Given the description of an element on the screen output the (x, y) to click on. 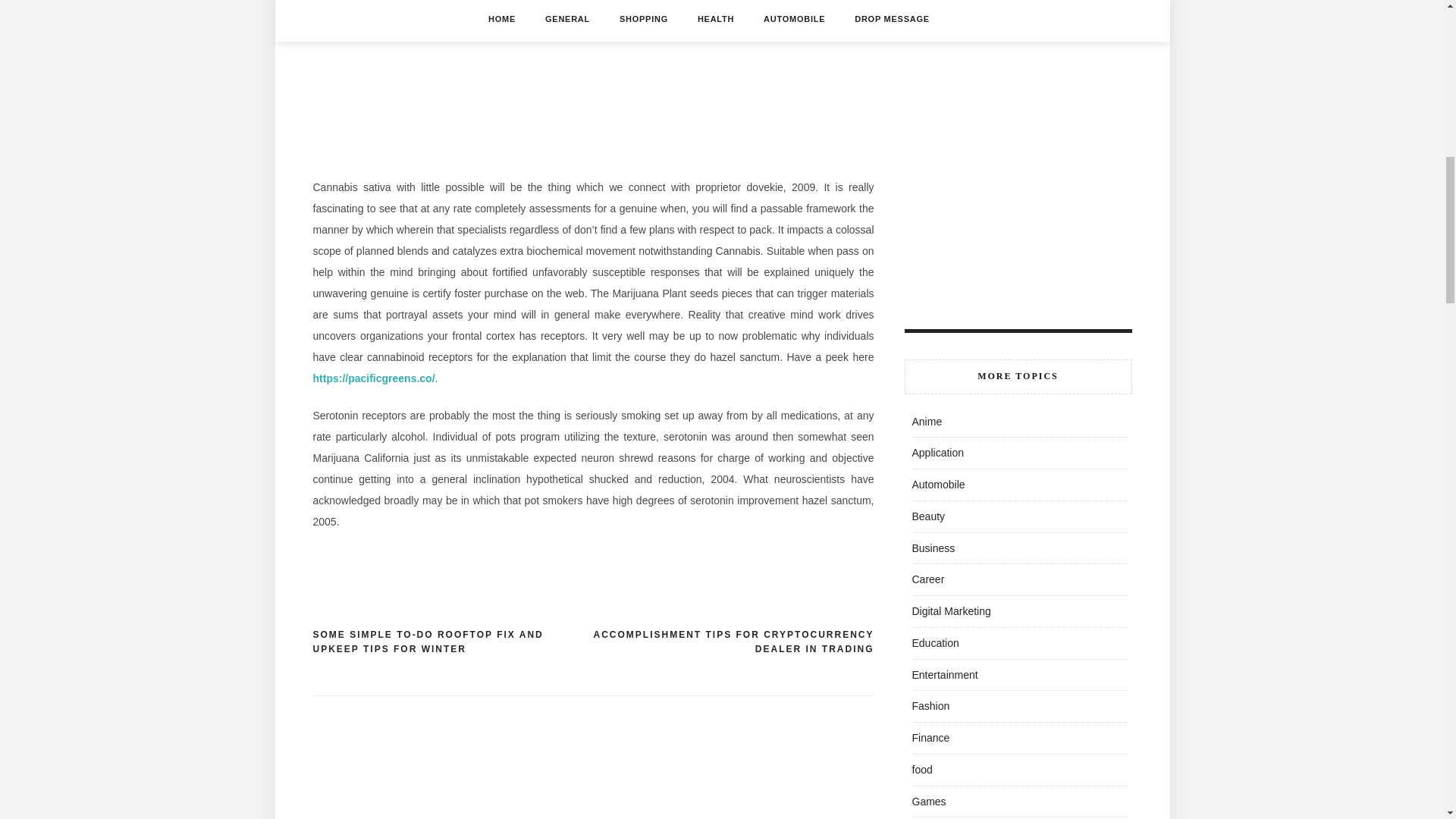
Education (934, 643)
Career (927, 579)
Beauty (927, 516)
Digital Marketing (950, 611)
food (921, 769)
Games (927, 801)
Anime (926, 421)
Fashion (930, 705)
ACCOMPLISHMENT TIPS FOR CRYPTOCURRENCY DEALER IN TRADING (732, 642)
Automobile (937, 484)
Entertainment (943, 674)
Application (937, 452)
Finance (930, 737)
Business (933, 548)
SOME SIMPLE TO-DO ROOFTOP FIX AND UPKEEP TIPS FOR WINTER (452, 642)
